Given the description of an element on the screen output the (x, y) to click on. 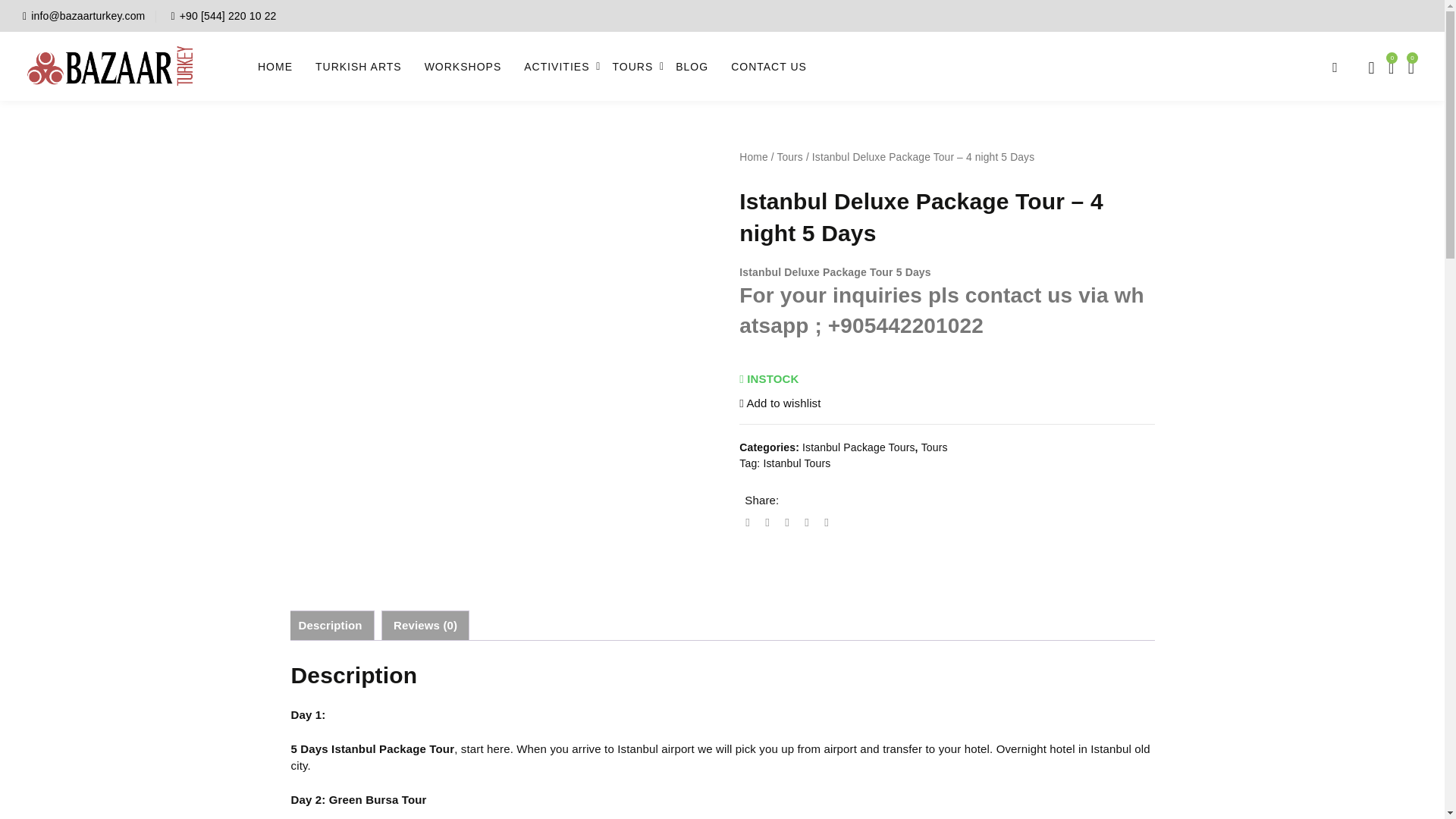
Bazaar Turkey (79, 97)
TOURS (631, 65)
WORKSHOPS (463, 65)
TURKISH ARTS (358, 65)
HOME (275, 65)
ACTIVITIES (555, 65)
